Given the description of an element on the screen output the (x, y) to click on. 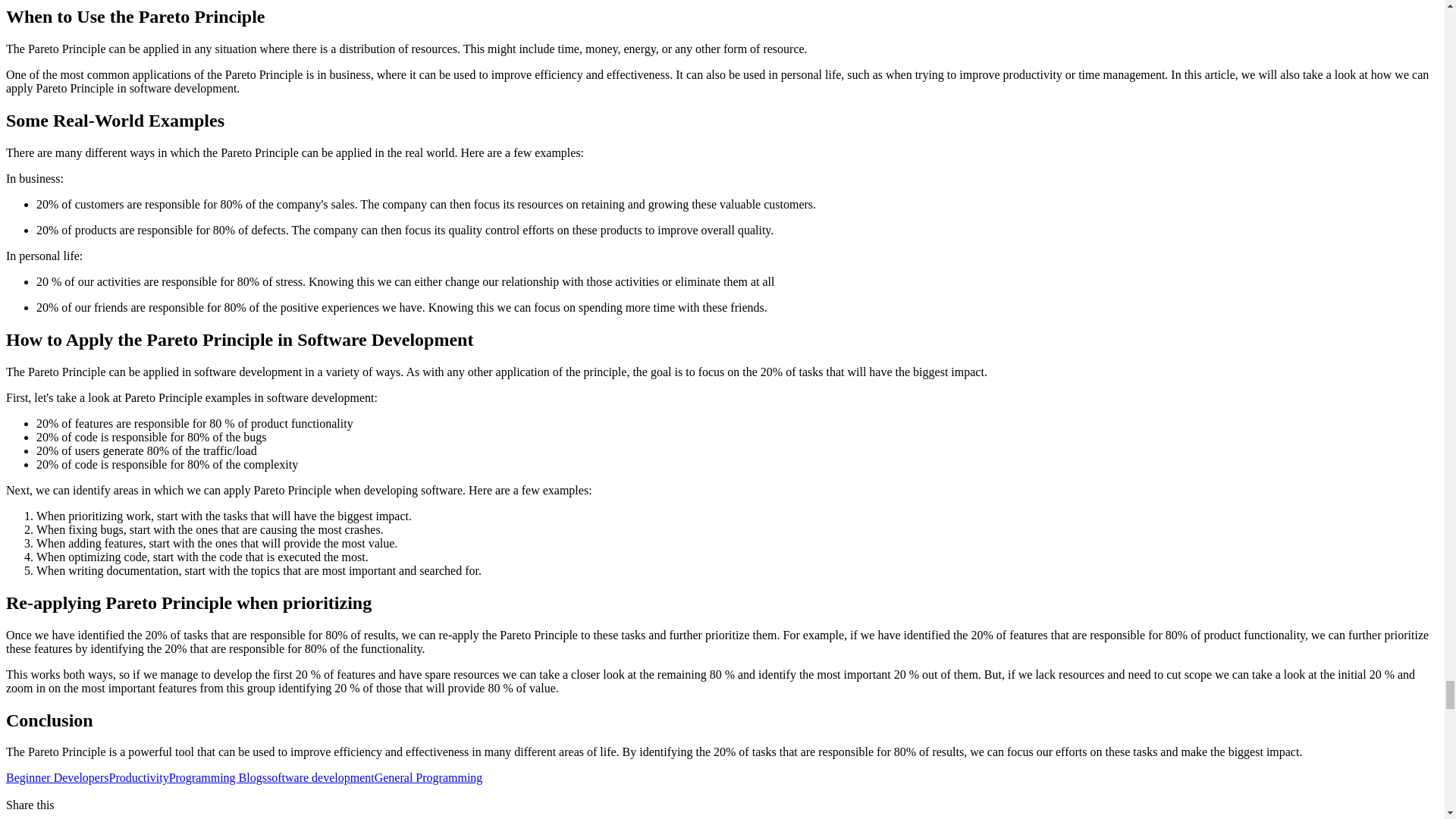
Productivity (138, 777)
General Programming (428, 777)
software development (320, 777)
Programming Blogs (217, 777)
Beginner Developers (57, 777)
